Given the description of an element on the screen output the (x, y) to click on. 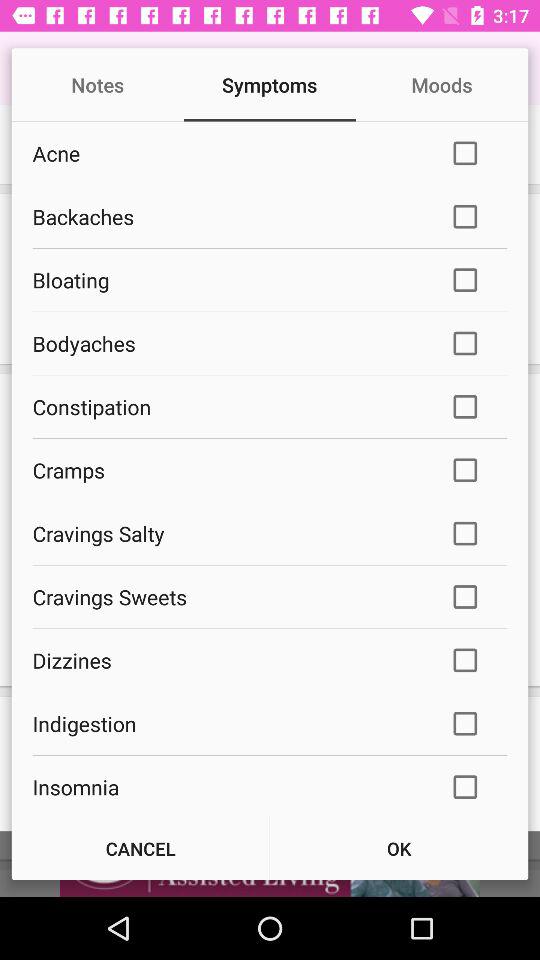
launch backaches item (227, 216)
